Given the description of an element on the screen output the (x, y) to click on. 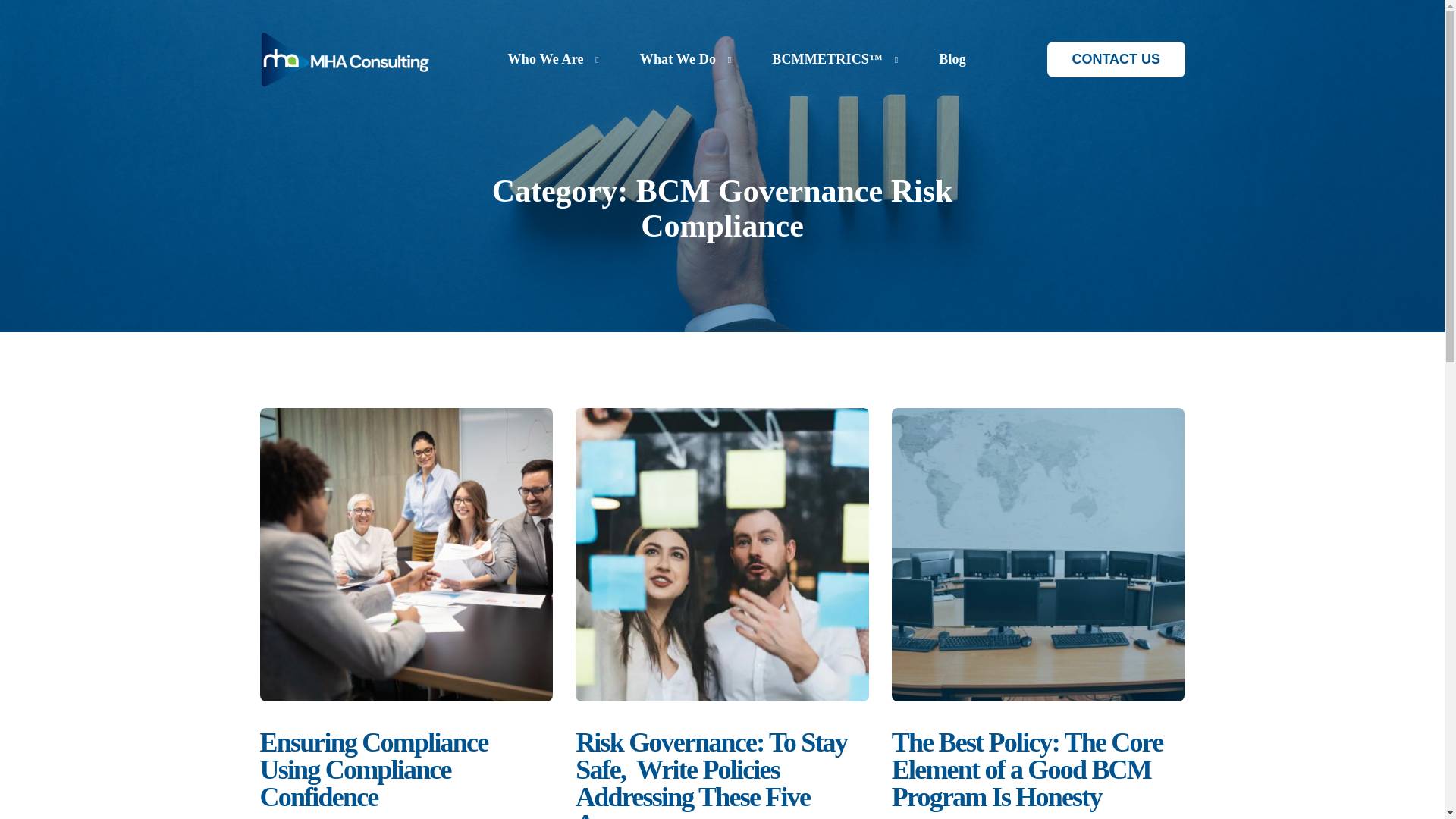
View Post: Ensuring Compliance Using Compliance Confidence  (406, 769)
 View Post: Ensuring Compliance Using Compliance Confidence (406, 554)
Who We Are (549, 58)
CONTACT US (1115, 58)
Ensuring Compliance Using Compliance Confidence (406, 769)
What We Do (681, 58)
